Given the description of an element on the screen output the (x, y) to click on. 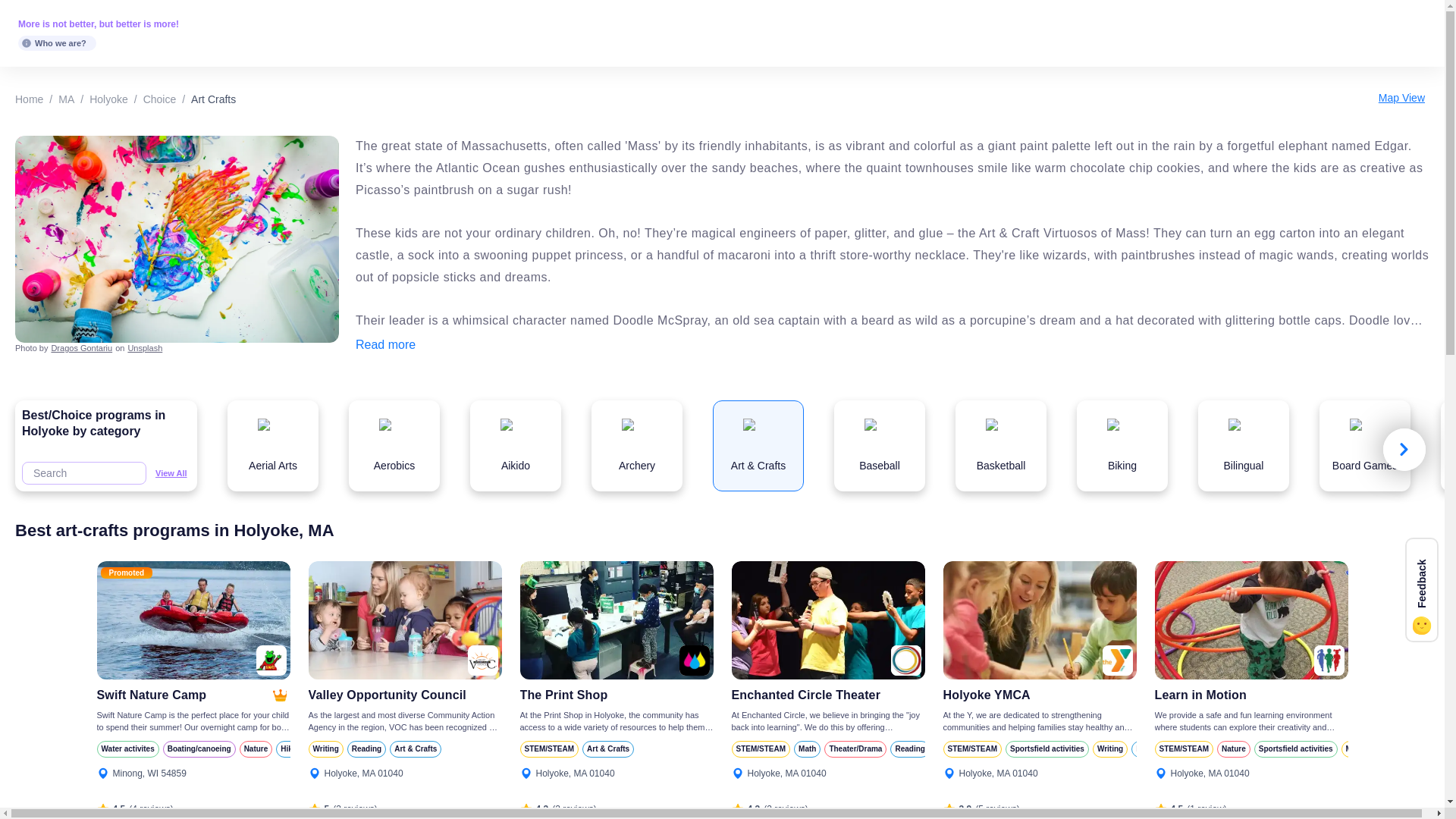
Basketball (1000, 445)
MA (66, 99)
Basketball (1000, 445)
Aerobics (394, 445)
Aerial Arts (272, 445)
Archery (636, 445)
Choice (159, 99)
Map View (1401, 97)
View All (168, 473)
Home (28, 99)
